Given the description of an element on the screen output the (x, y) to click on. 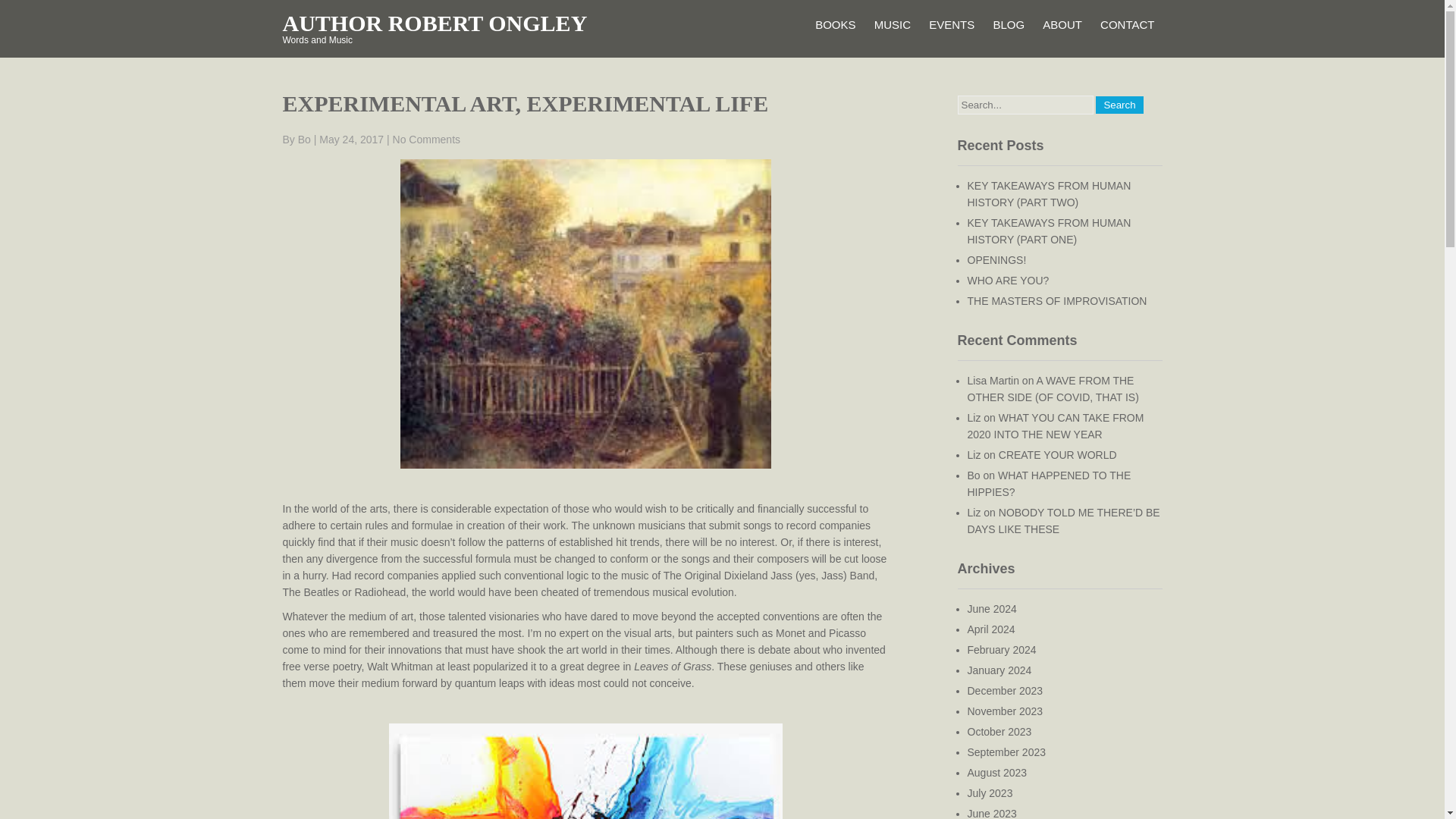
December 2023 (1005, 690)
August 2023 (997, 772)
CONTACT (1127, 24)
WHAT YOU CAN TAKE FROM 2020 INTO THE NEW YEAR (1056, 425)
Search (1119, 104)
OPENINGS! (997, 259)
WHAT HAPPENED TO THE HIPPIES? (1049, 483)
October 2023 (1000, 731)
ABOUT (1062, 24)
Search (1119, 104)
AUTHOR ROBERT ONGLEY (434, 23)
WHO ARE YOU? (1008, 280)
EVENTS (951, 24)
April 2024 (991, 629)
No Comments (426, 139)
